Given the description of an element on the screen output the (x, y) to click on. 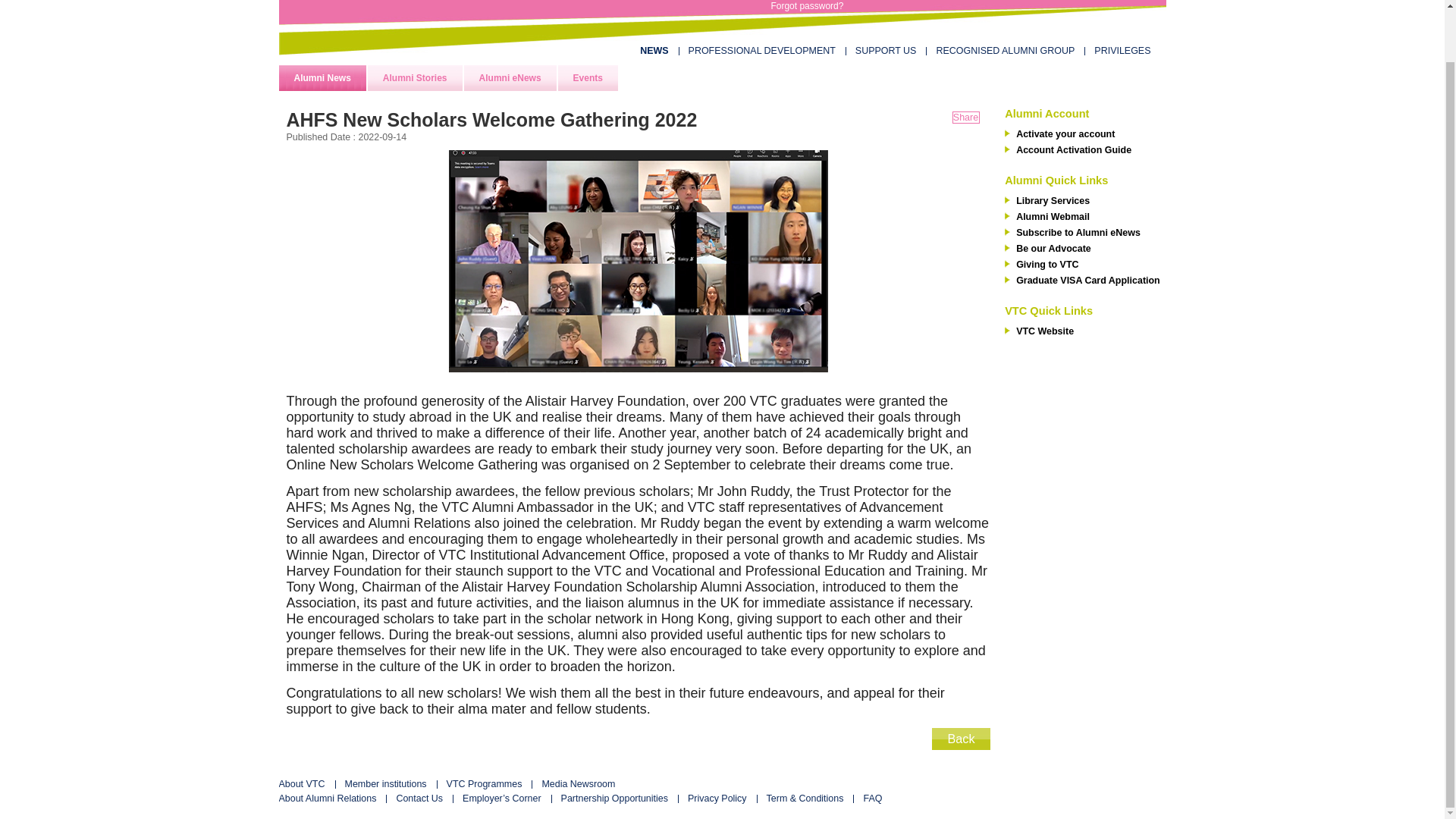
Be our Advocate (1086, 247)
Back (960, 742)
Activate your account (1086, 133)
NEWS (654, 50)
Subscribe to Alumni eNews (1086, 232)
Alumni Stories (415, 77)
Events (587, 77)
VTC Website (1086, 330)
RECOGNISED ALUMNI GROUP (1005, 50)
Alumni eNews (510, 77)
